Given the description of an element on the screen output the (x, y) to click on. 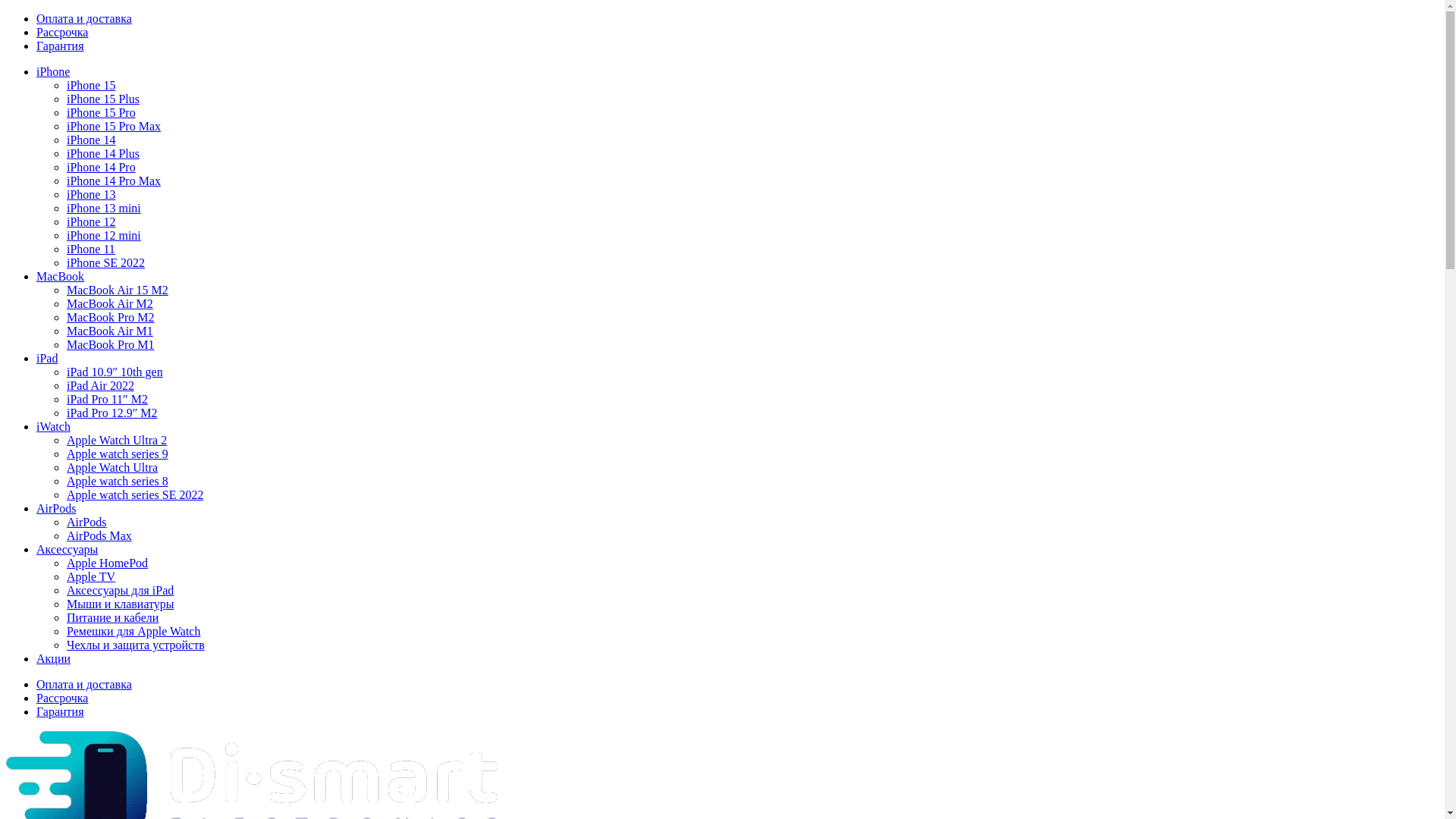
AirPods Element type: text (86, 521)
MacBook Pro M2 Element type: text (110, 316)
MacBook Air M1 Element type: text (109, 330)
Apple watch series 8 Element type: text (117, 480)
MacBook Air 15 M2 Element type: text (117, 289)
MacBook Element type: text (60, 275)
AirPods Max Element type: text (98, 535)
iPhone 15 Plus Element type: text (102, 98)
iPhone 14 Pro Max Element type: text (113, 180)
iPhone Element type: text (52, 71)
iWatch Element type: text (53, 426)
iPhone 12 mini Element type: text (103, 235)
Apple TV Element type: text (90, 576)
Apple watch series SE 2022 Element type: text (134, 494)
iPhone 12 Element type: text (90, 221)
iPhone 14 Pro Element type: text (100, 166)
AirPods Element type: text (55, 508)
iPhone 14 Element type: text (90, 139)
iPhone 13 mini Element type: text (103, 207)
Apple HomePod Element type: text (106, 562)
iPhone 15 Pro Max Element type: text (113, 125)
iPhone 14 Plus Element type: text (102, 153)
iPhone 13 Element type: text (90, 194)
Apple Watch Ultra Element type: text (111, 467)
iPhone SE 2022 Element type: text (105, 262)
Apple watch series 9 Element type: text (117, 453)
Apple Watch Ultra 2 Element type: text (116, 439)
MacBook Pro M1 Element type: text (110, 344)
iPhone 11 Element type: text (90, 248)
iPhone 15 Pro Element type: text (100, 112)
iPad Element type: text (46, 357)
MacBook Air M2 Element type: text (109, 303)
iPhone 15 Element type: text (90, 84)
iPad Air 2022 Element type: text (100, 385)
